Given the description of an element on the screen output the (x, y) to click on. 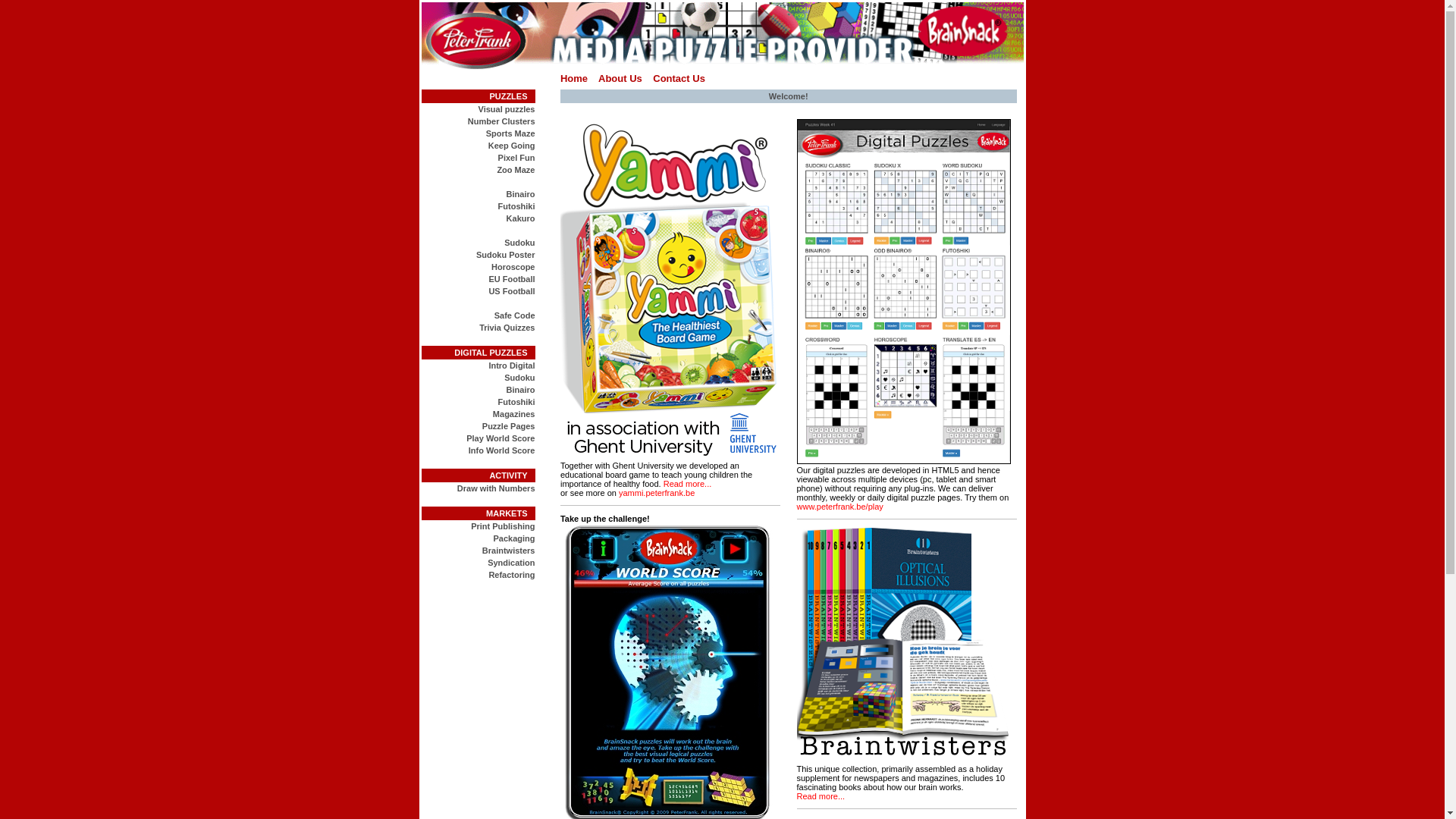
yammi.peterfrank.be Element type: text (656, 492)
Info World Score Element type: text (501, 450)
EU Football Element type: text (511, 278)
Braintwisters Element type: text (508, 550)
Visual puzzles Element type: text (505, 108)
Keep Going Element type: text (511, 145)
www.peterfrank.be/play Element type: text (839, 506)
Puzzle Pages Element type: text (508, 425)
Pixel Fun Element type: text (516, 157)
Safe Code Element type: text (514, 315)
Home Element type: text (573, 78)
Read more... Element type: text (820, 795)
About Us Element type: text (620, 78)
Draw with Numbers Element type: text (496, 487)
Trivia Quizzes Element type: text (506, 327)
Binairo Element type: text (520, 389)
Kakuro Element type: text (520, 217)
US Football Element type: text (511, 290)
Futoshiki Element type: text (516, 401)
Futoshiki Element type: text (516, 205)
Number Clusters Element type: text (501, 120)
Refactoring Element type: text (511, 574)
Sudoku Poster Element type: text (505, 254)
Sports Maze Element type: text (510, 133)
Sudoku Element type: text (519, 242)
Syndication Element type: text (510, 562)
Intro Digital Element type: text (511, 365)
Sudoku Element type: text (519, 377)
Binairo Element type: text (520, 193)
Print Publishing Element type: text (502, 525)
Read more... Element type: text (687, 483)
Zoo Maze Element type: text (515, 169)
Magazines Element type: text (513, 413)
Contact Us Element type: text (678, 78)
Packaging Element type: text (513, 537)
Horoscope Element type: text (512, 266)
Play World Score Element type: text (500, 437)
